Given the description of an element on the screen output the (x, y) to click on. 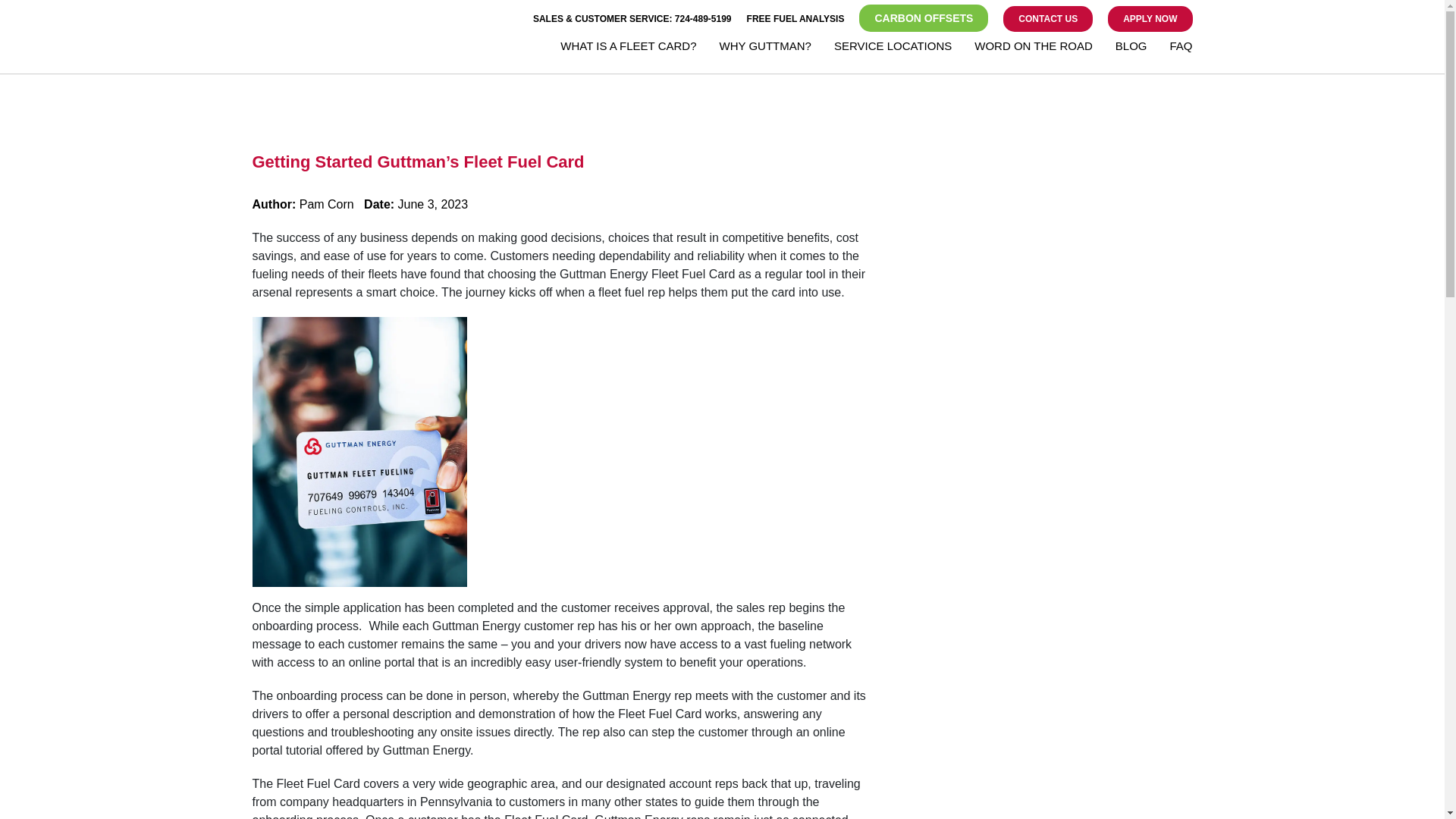
Blog (1131, 47)
BLOG (1131, 47)
SERVICE LOCATIONS (893, 47)
FAQ (1180, 47)
Why Guttman? (764, 47)
Pam Corn (326, 204)
CARBON OFFSETS (923, 17)
June 3, 2023 (432, 204)
CONTACT US (1048, 18)
WHY GUTTMAN? (764, 47)
WHAT IS A FLEET CARD? (627, 47)
FREE FUEL ANALYSIS (795, 18)
WORD ON THE ROAD (1033, 47)
What Is A Fleet Card? (627, 47)
APPLY NOW (1150, 18)
